Given the description of an element on the screen output the (x, y) to click on. 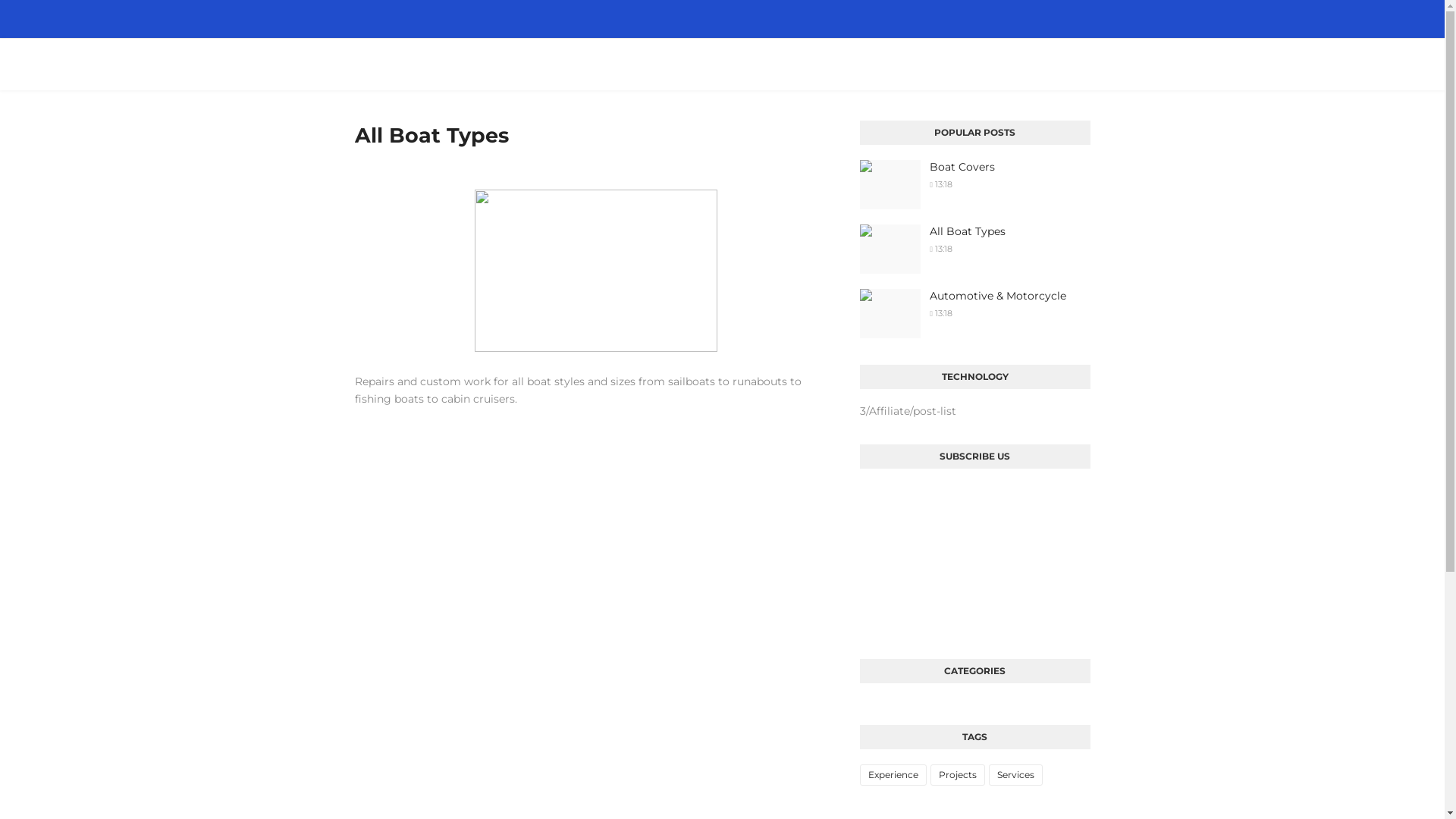
Automotive & Motorcycle Element type: text (1009, 296)
Experience Element type: text (892, 774)
Boat Covers Element type: text (1009, 167)
Services Element type: text (1015, 774)
Projects Element type: text (957, 774)
All Boat Types Element type: text (1009, 231)
